Given the description of an element on the screen output the (x, y) to click on. 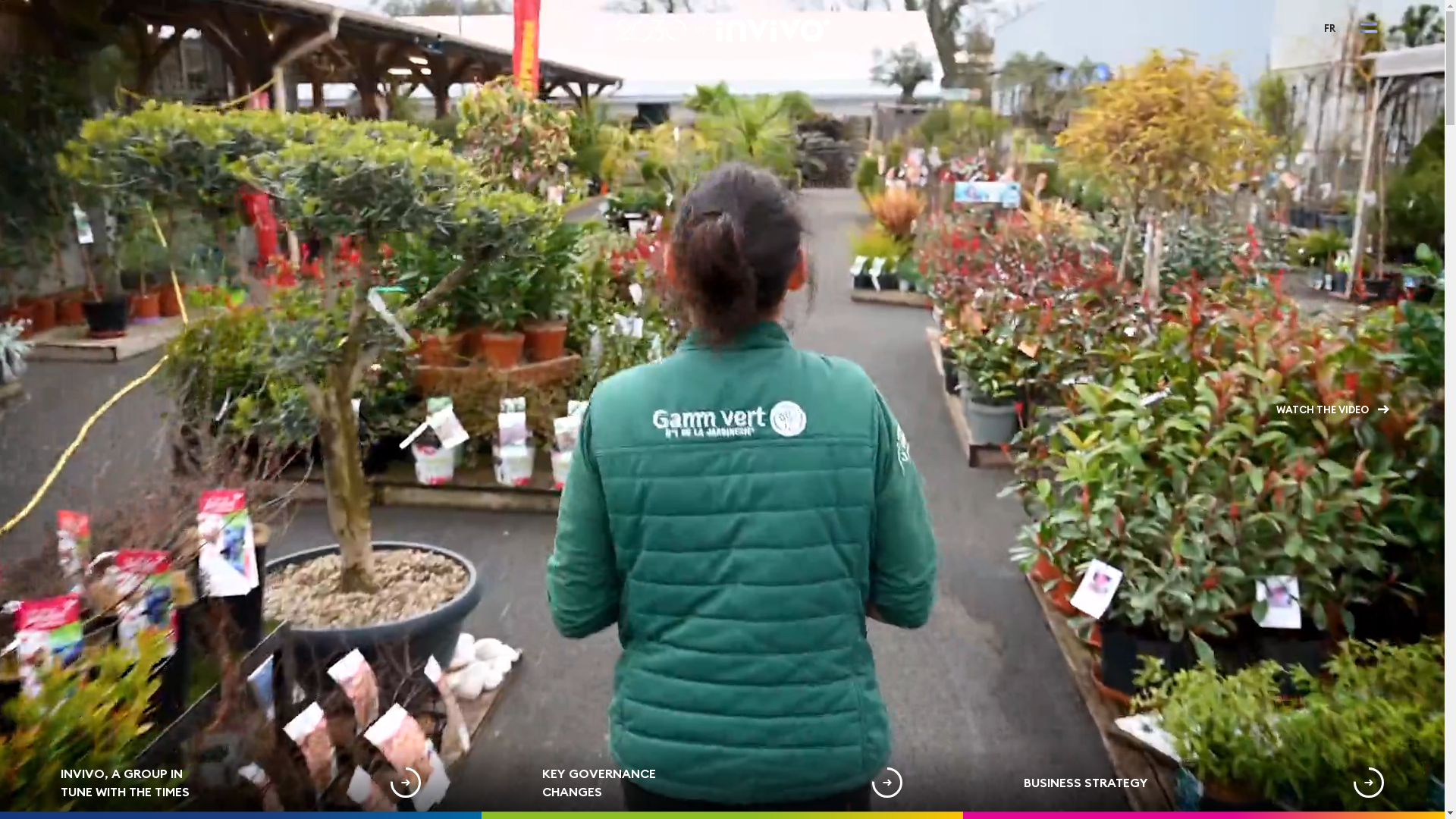
WATCH THE VIDEO Element type: text (1332, 409)
FR Element type: text (1329, 27)
